Given the description of an element on the screen output the (x, y) to click on. 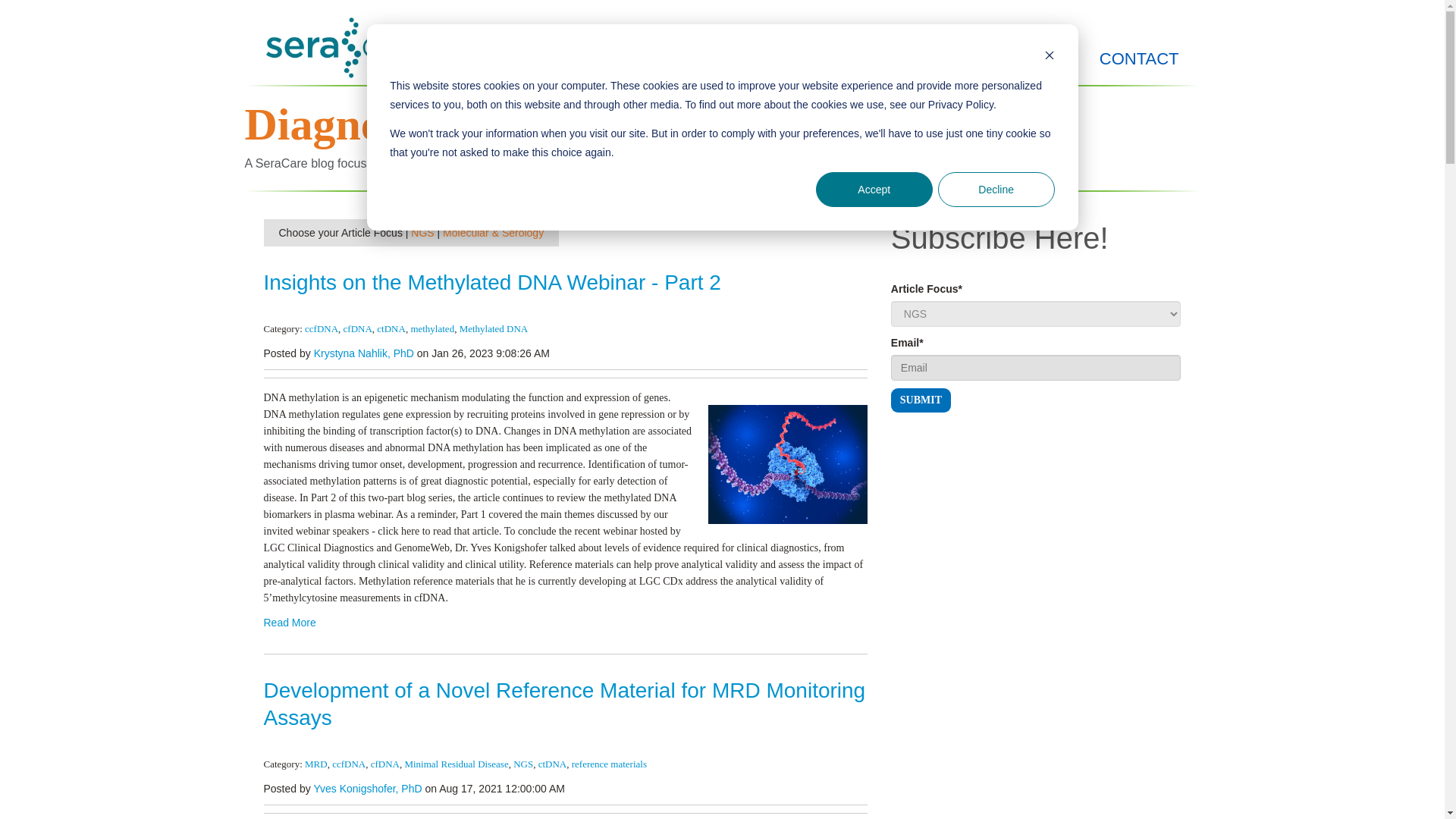
CONTACT (1139, 58)
cfDNA (357, 328)
Submit (920, 400)
NGS (421, 232)
Diagnostic Precision (441, 124)
Minimal Residual Disease (456, 763)
methylated (432, 328)
Krystyna Nahlik, PhD (363, 353)
NEWS AND EVENTS (960, 58)
Methylated DNA (494, 328)
ABOUT (793, 58)
MRD (315, 763)
reference materials (609, 763)
SeraCare (355, 47)
ccfDNA (320, 328)
